Given the description of an element on the screen output the (x, y) to click on. 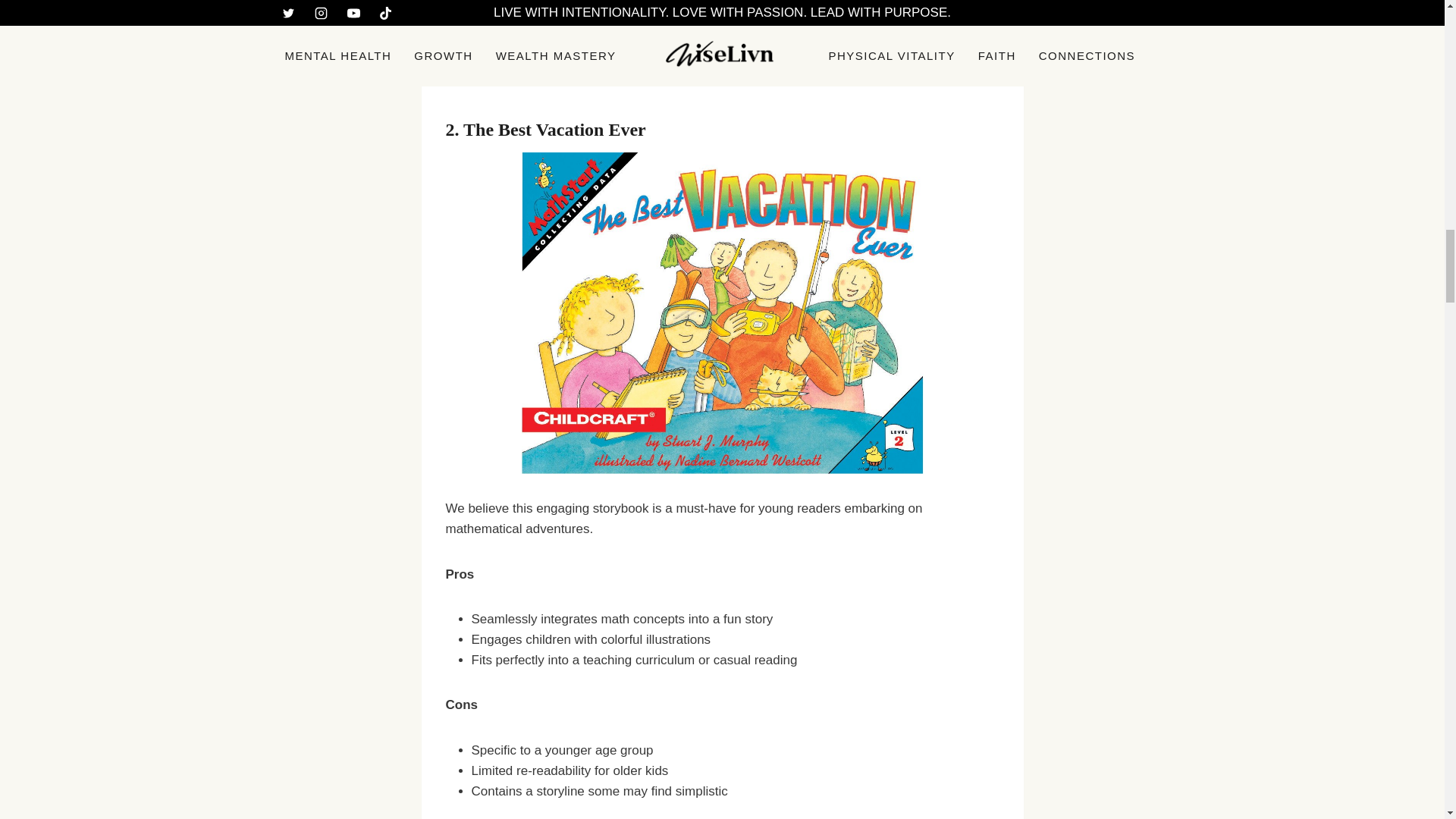
The Best Vacation Ever (554, 129)
CLICK TO VIEW PRODUCT (526, 78)
